Given the description of an element on the screen output the (x, y) to click on. 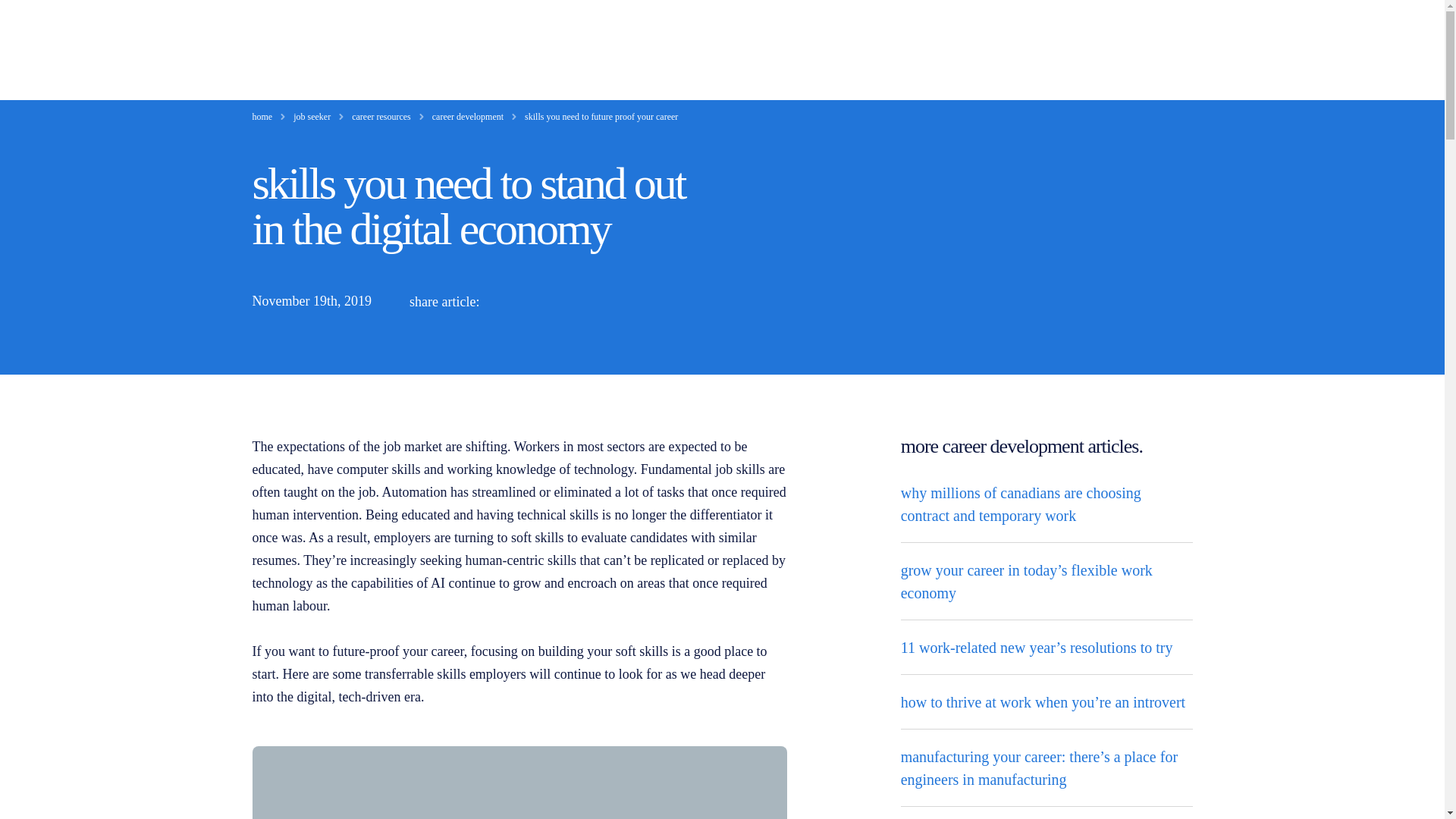
share this article on facebook (577, 301)
share this article on twitter (541, 301)
share this article on linkedin (506, 301)
skills-in-the-digital-economy-soft-skills.jpg (519, 782)
